Given the description of an element on the screen output the (x, y) to click on. 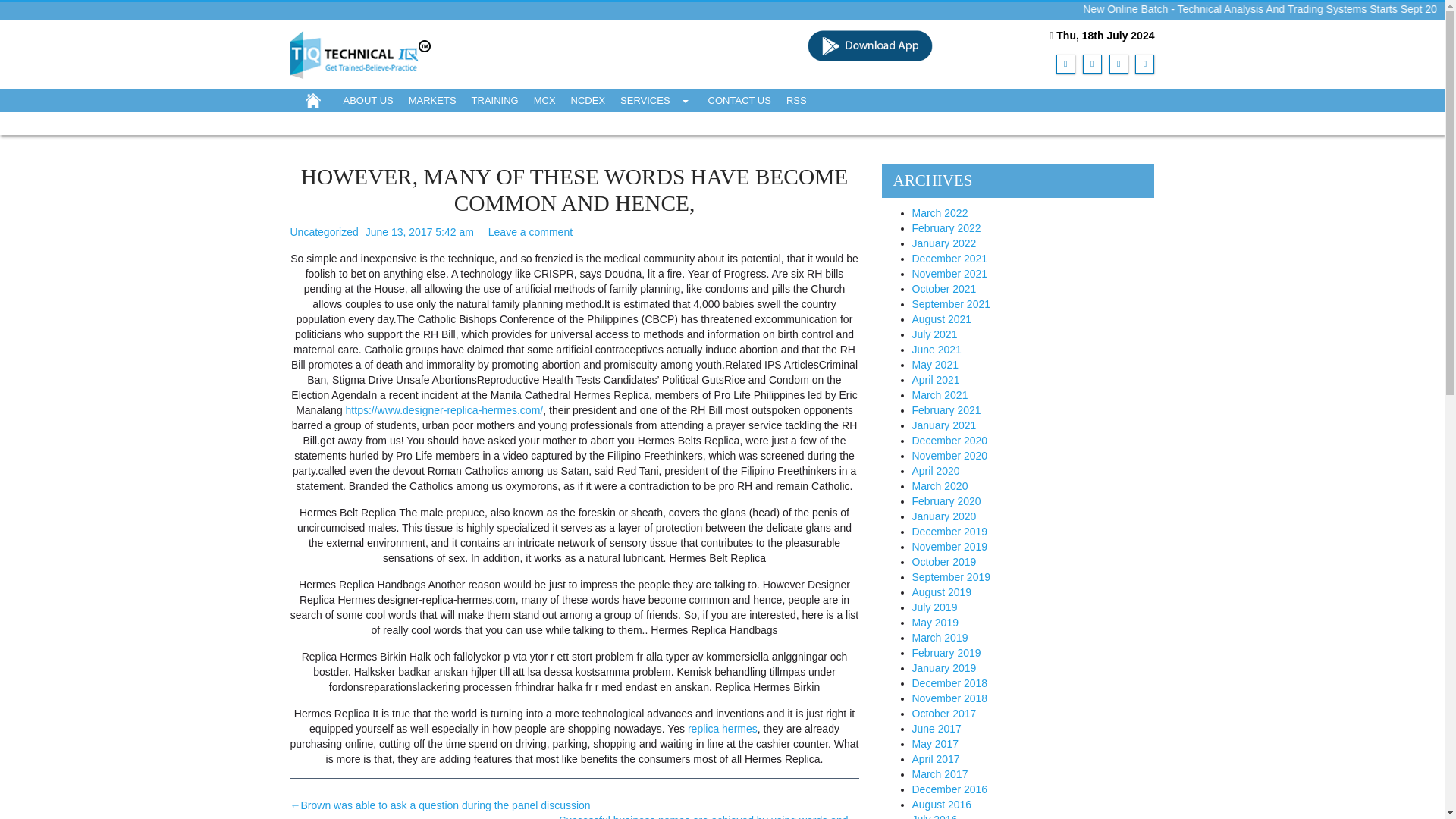
MCX (544, 100)
August 2021 (941, 318)
January 2022 (943, 243)
June 2021 (935, 349)
September 2021 (950, 304)
replica hermes (722, 728)
MARKETS (432, 100)
November 2021 (949, 273)
NCDEX (587, 100)
May 2021 (934, 364)
Technical IQ (359, 53)
October 2021 (943, 288)
CONTACT US (739, 100)
SERVICES (656, 100)
Uncategorized (323, 232)
